Given the description of an element on the screen output the (x, y) to click on. 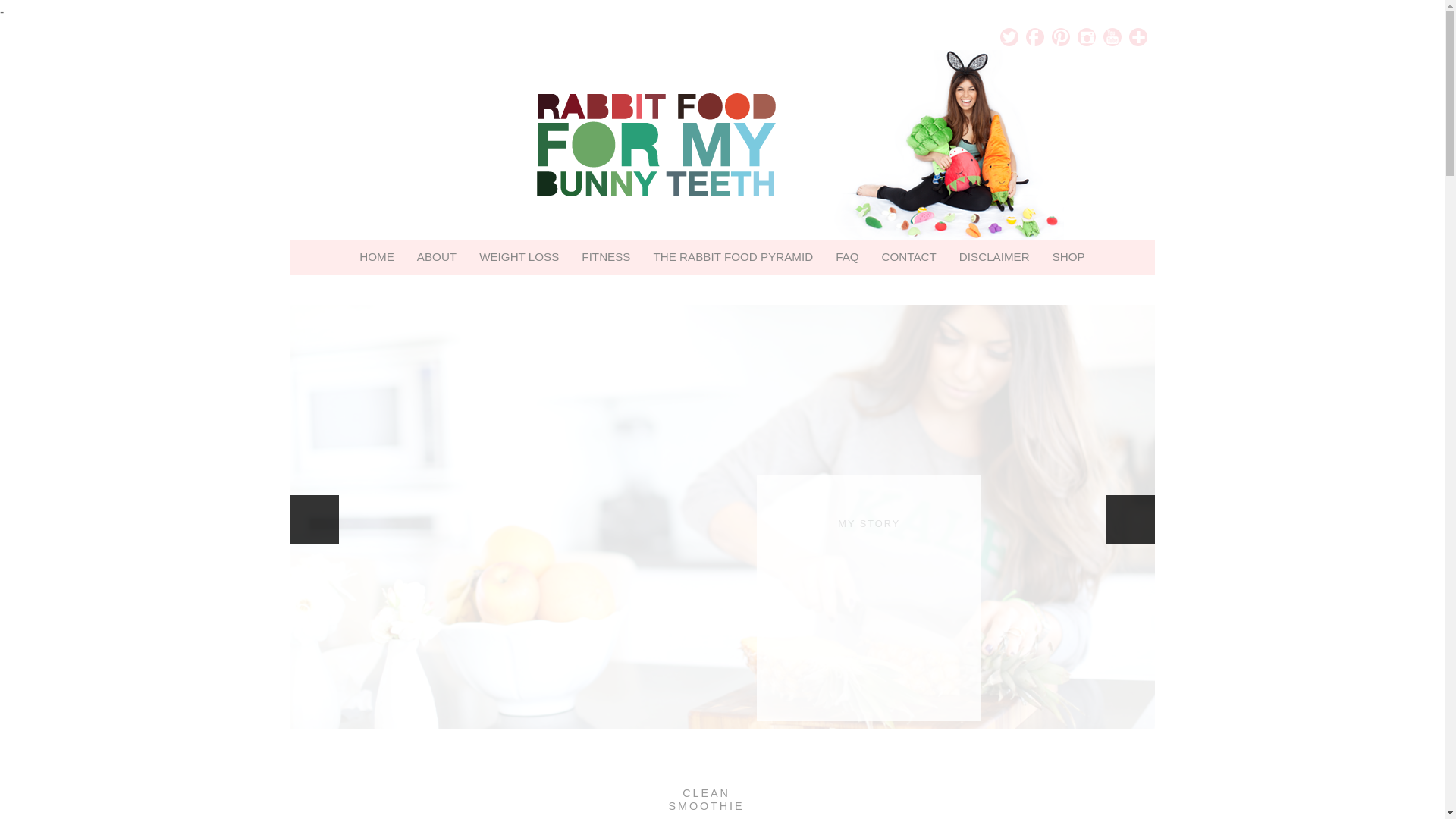
THE RABBIT FOOD PYRAMID (733, 256)
Facebook (1034, 36)
Next (1129, 519)
Bloglovin (1137, 36)
FAQ (846, 256)
Pinterest (1059, 36)
MY STORY (868, 523)
YouTube (1111, 36)
FITNESS (606, 256)
Eat More Rabbit Food (721, 144)
WEIGHT LOSS (518, 256)
ABOUT (436, 256)
HOME (376, 256)
CONTACT (908, 256)
Twitter (1007, 36)
